Given the description of an element on the screen output the (x, y) to click on. 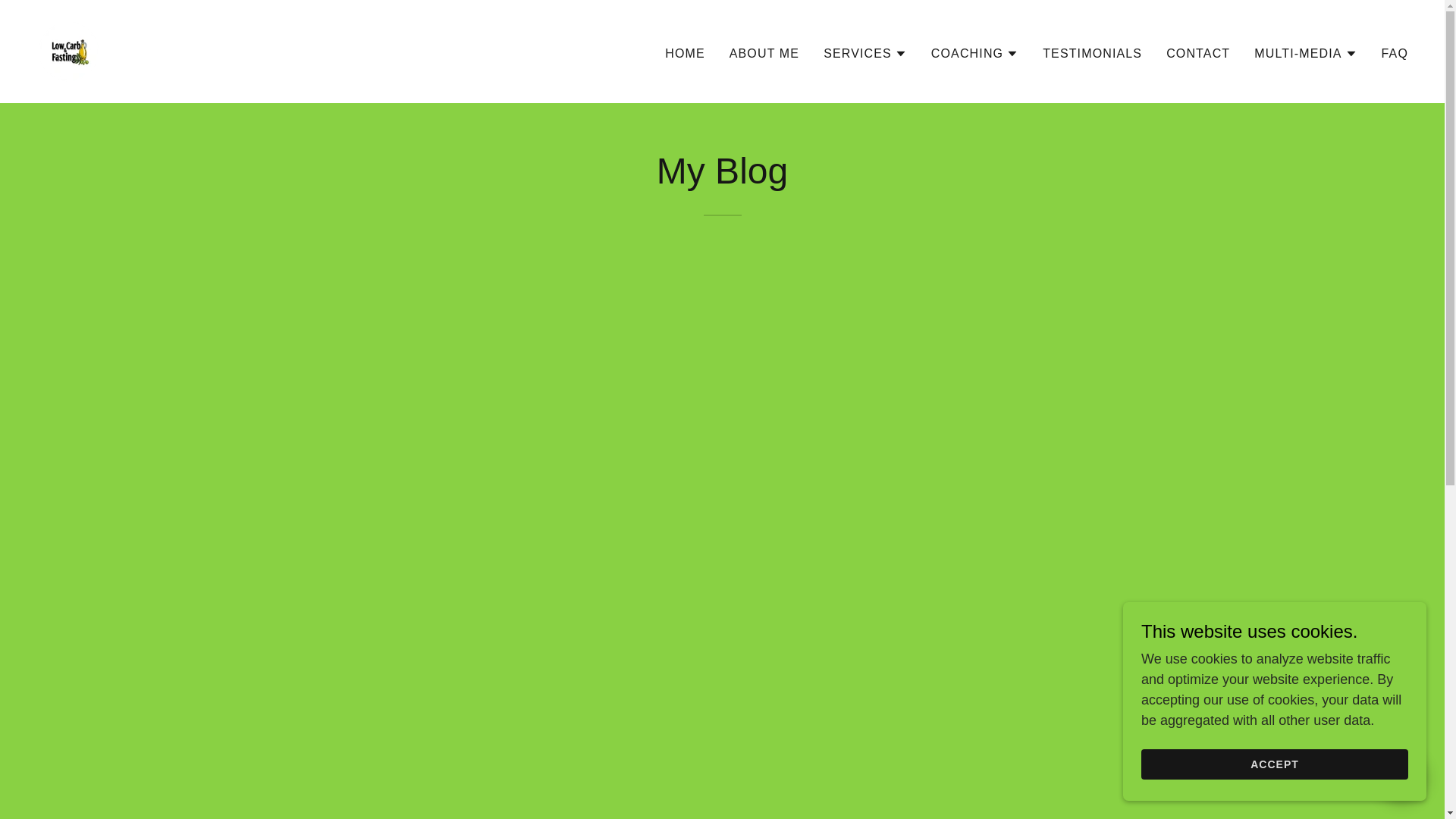
CONTACT (1197, 52)
MULTI-MEDIA (1304, 53)
FAQ (1394, 52)
COACHING (974, 53)
ABOUT ME (764, 52)
HOME (685, 52)
TESTIMONIALS (1092, 52)
Low Carb and Fasting (68, 50)
SERVICES (865, 53)
